Given the description of an element on the screen output the (x, y) to click on. 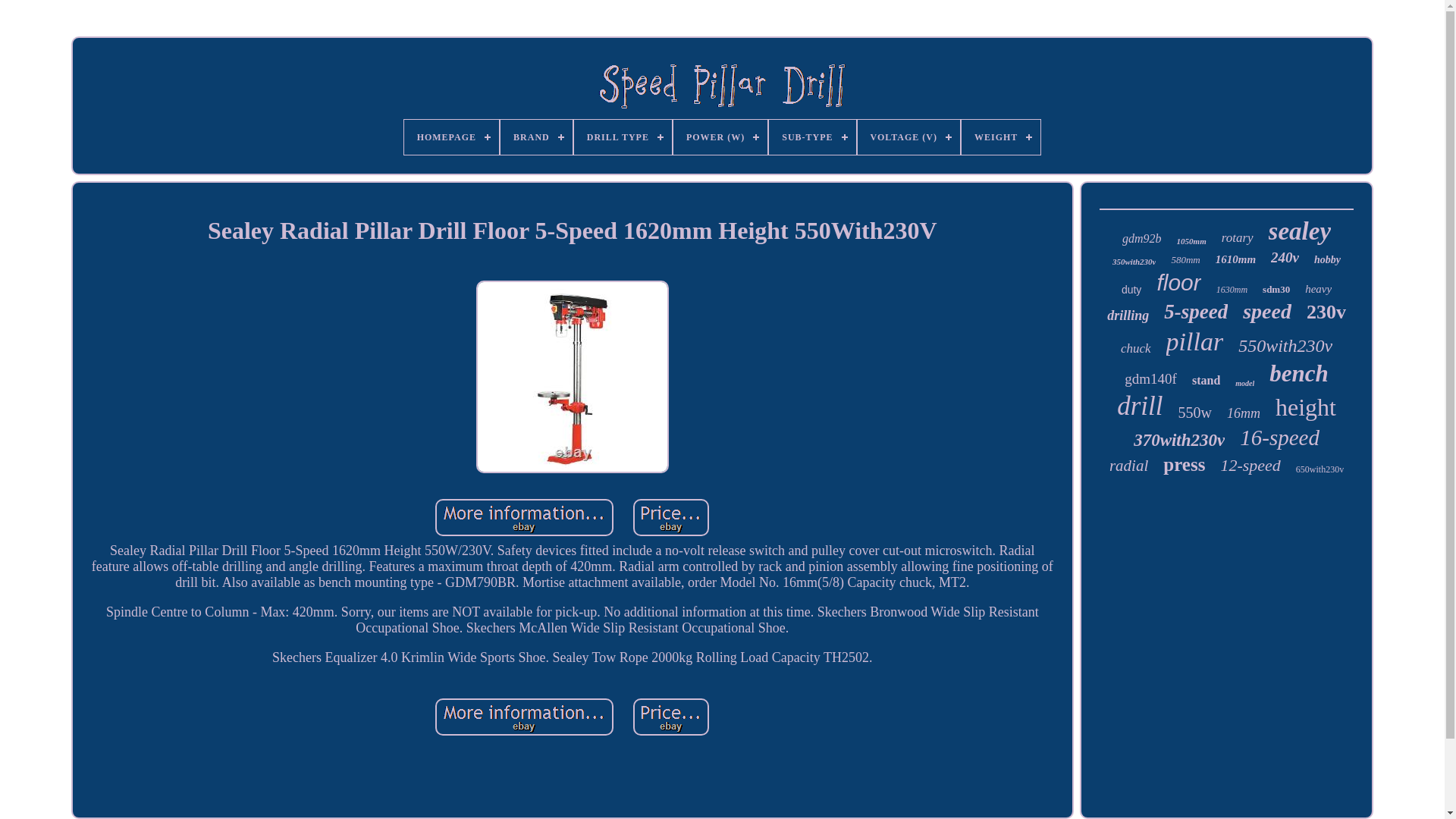
SUB-TYPE (812, 136)
HOMEPAGE (451, 136)
DRILL TYPE (622, 136)
BRAND (536, 136)
